Given the description of an element on the screen output the (x, y) to click on. 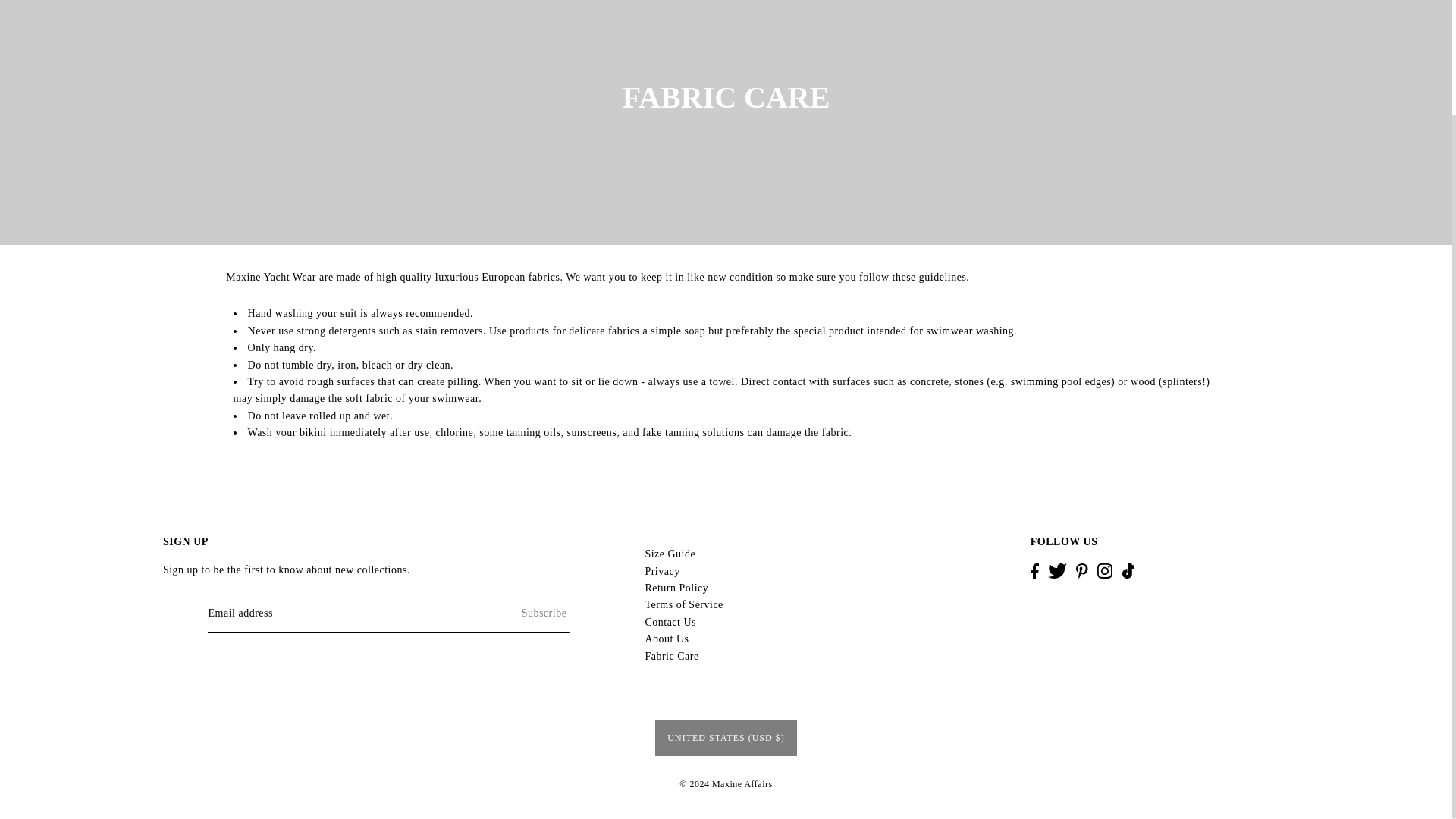
Terms of Service (683, 604)
Return Policy (676, 587)
Privacy (662, 571)
Size Guide (670, 553)
Instagram (1104, 569)
Subscribe (513, 613)
Twitter (1057, 569)
Contact Us (670, 622)
About Us (666, 638)
